Given the description of an element on the screen output the (x, y) to click on. 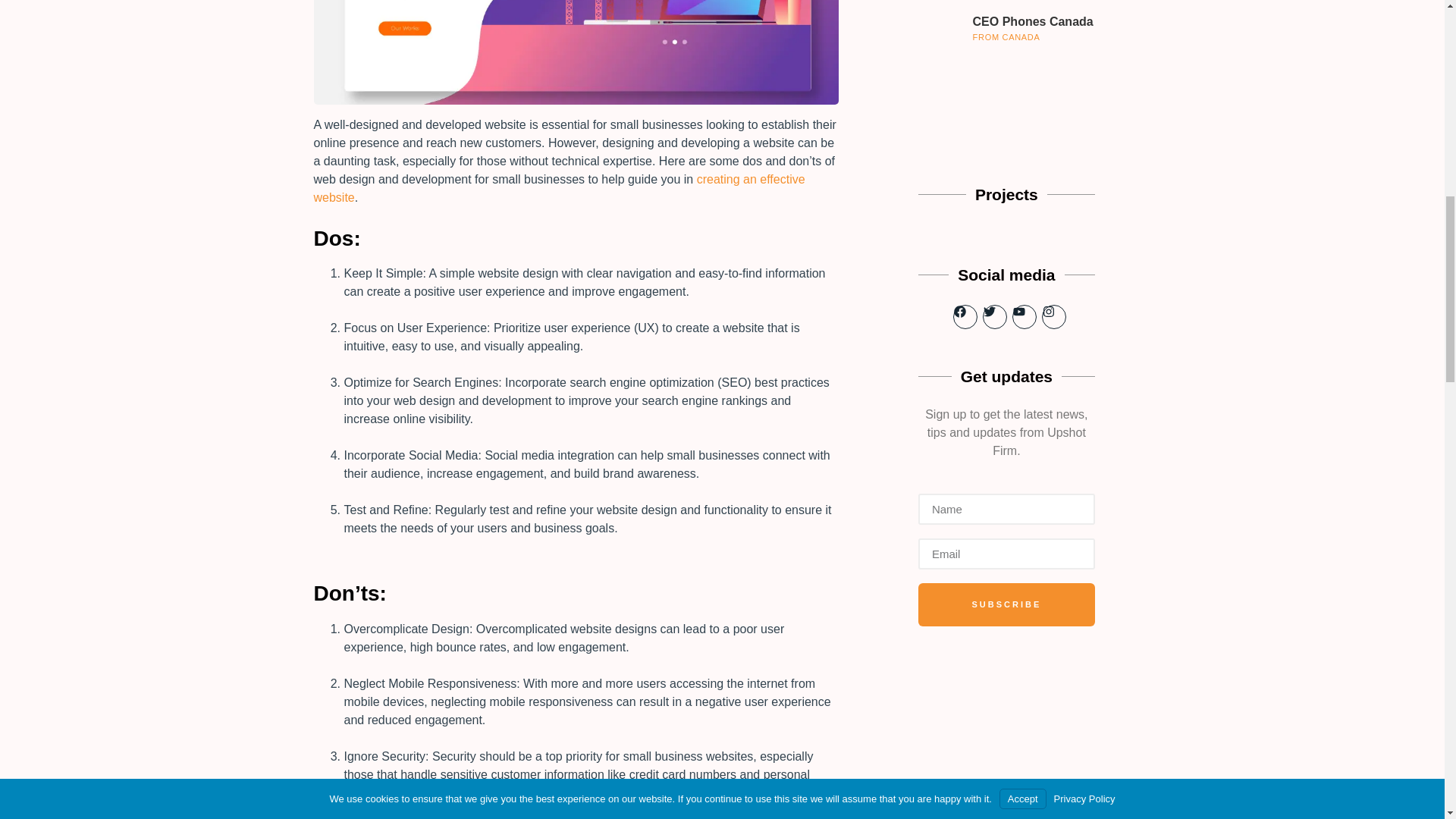
Get updates (1006, 385)
Social media (1006, 283)
Projects (1006, 203)
SUBSCRIBE (1006, 559)
creating an effective website (559, 187)
